Given the description of an element on the screen output the (x, y) to click on. 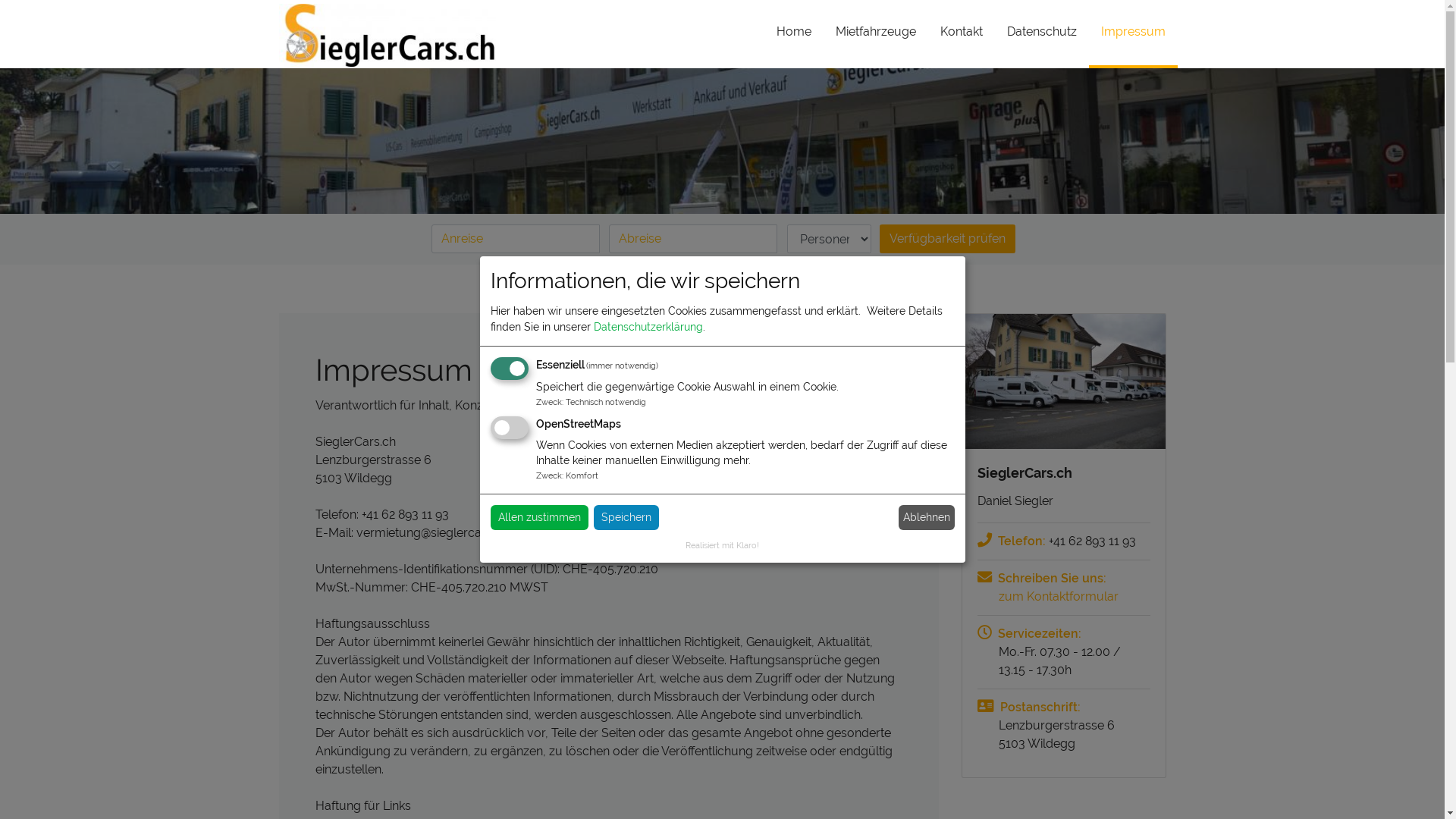
Ablehnen Element type: text (925, 517)
Allen zustimmen Element type: text (538, 517)
zum Kontaktformular Element type: text (1062, 596)
Kontakt Element type: text (961, 40)
Datenschutz Element type: text (1041, 40)
Impressum
(current) Element type: text (1132, 39)
Mietfahrzeuge Element type: text (875, 40)
Realisiert mit Klaro! Element type: text (722, 544)
Speichern Element type: text (625, 517)
Home Element type: text (793, 40)
